Given the description of an element on the screen output the (x, y) to click on. 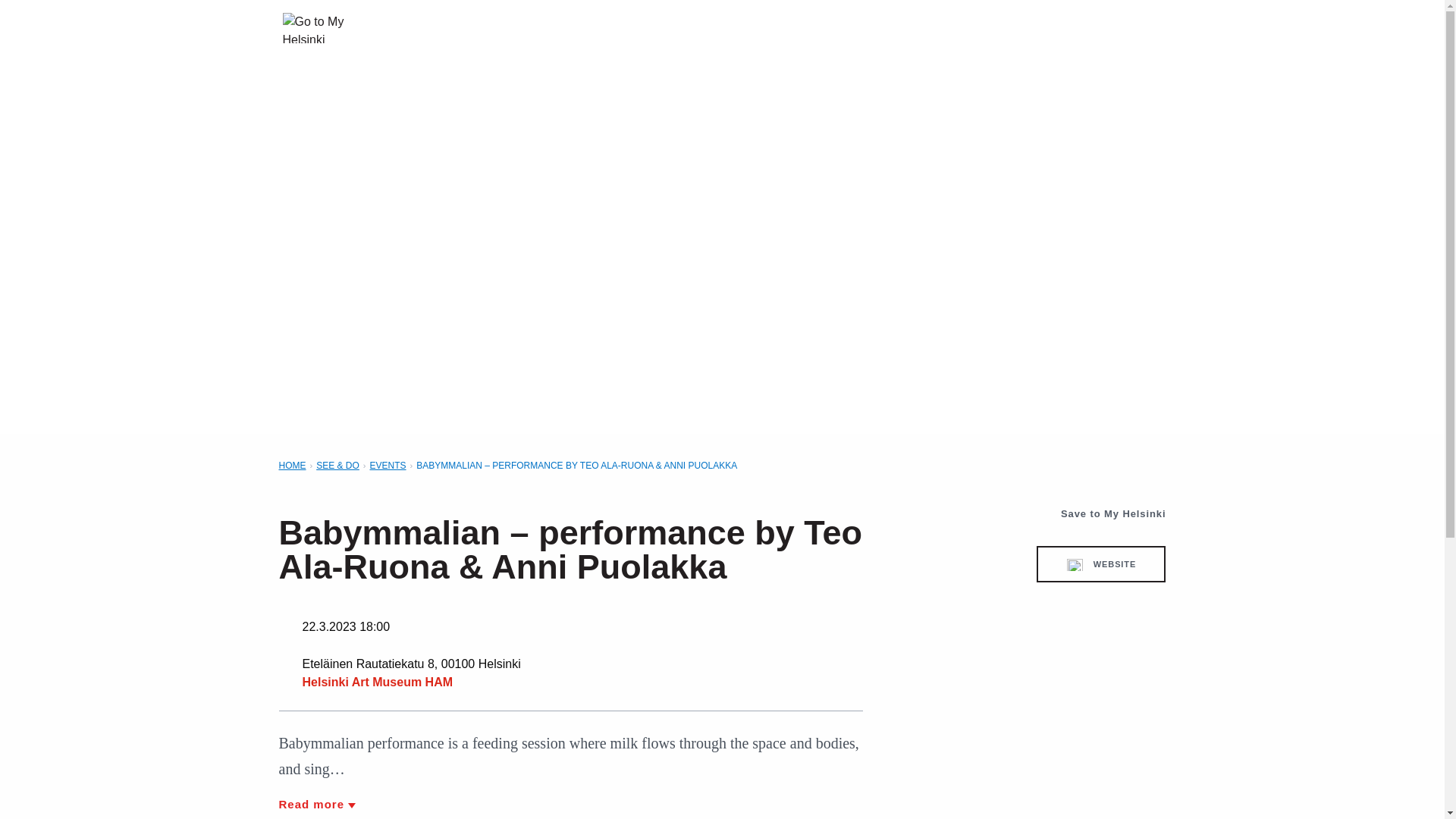
Search (1075, 27)
